Given the description of an element on the screen output the (x, y) to click on. 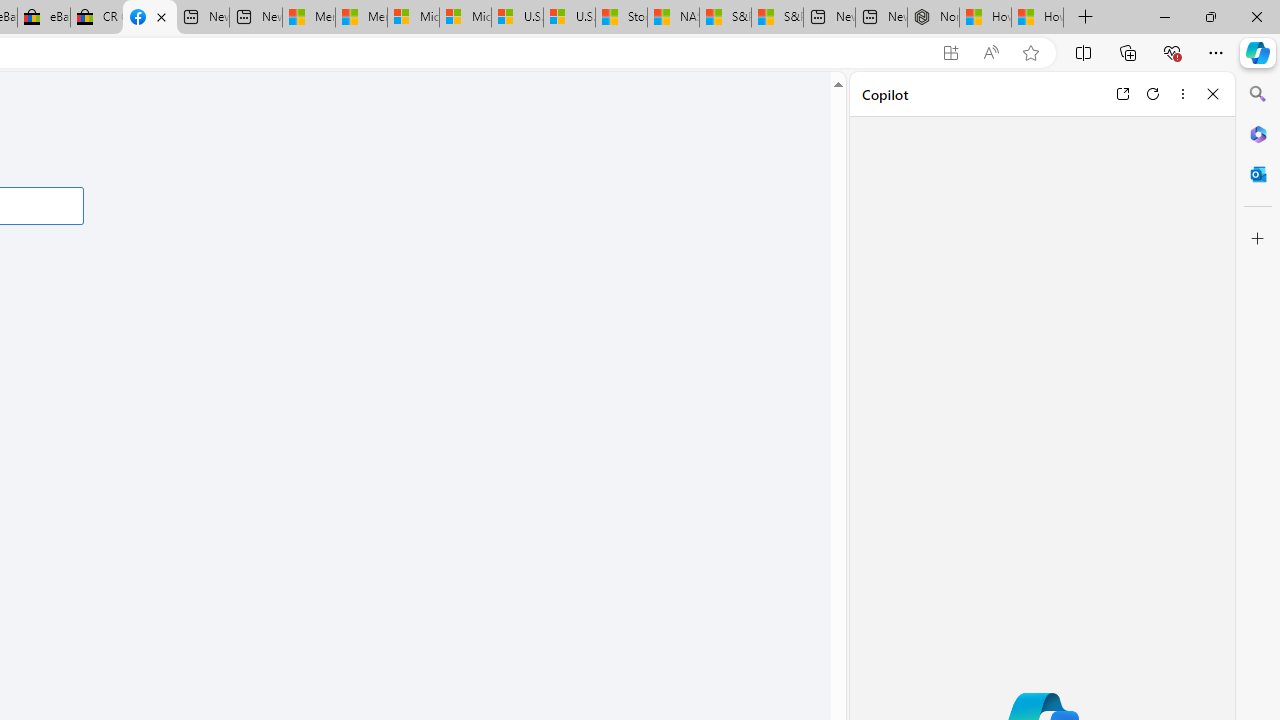
Log into Facebook (150, 17)
S&P 500, Nasdaq end lower, weighed by Nvidia dip | Watch (776, 17)
eBay Inc. Reports Third Quarter 2023 Results (43, 17)
How to Use a Monitor With Your Closed Laptop (1037, 17)
